Given the description of an element on the screen output the (x, y) to click on. 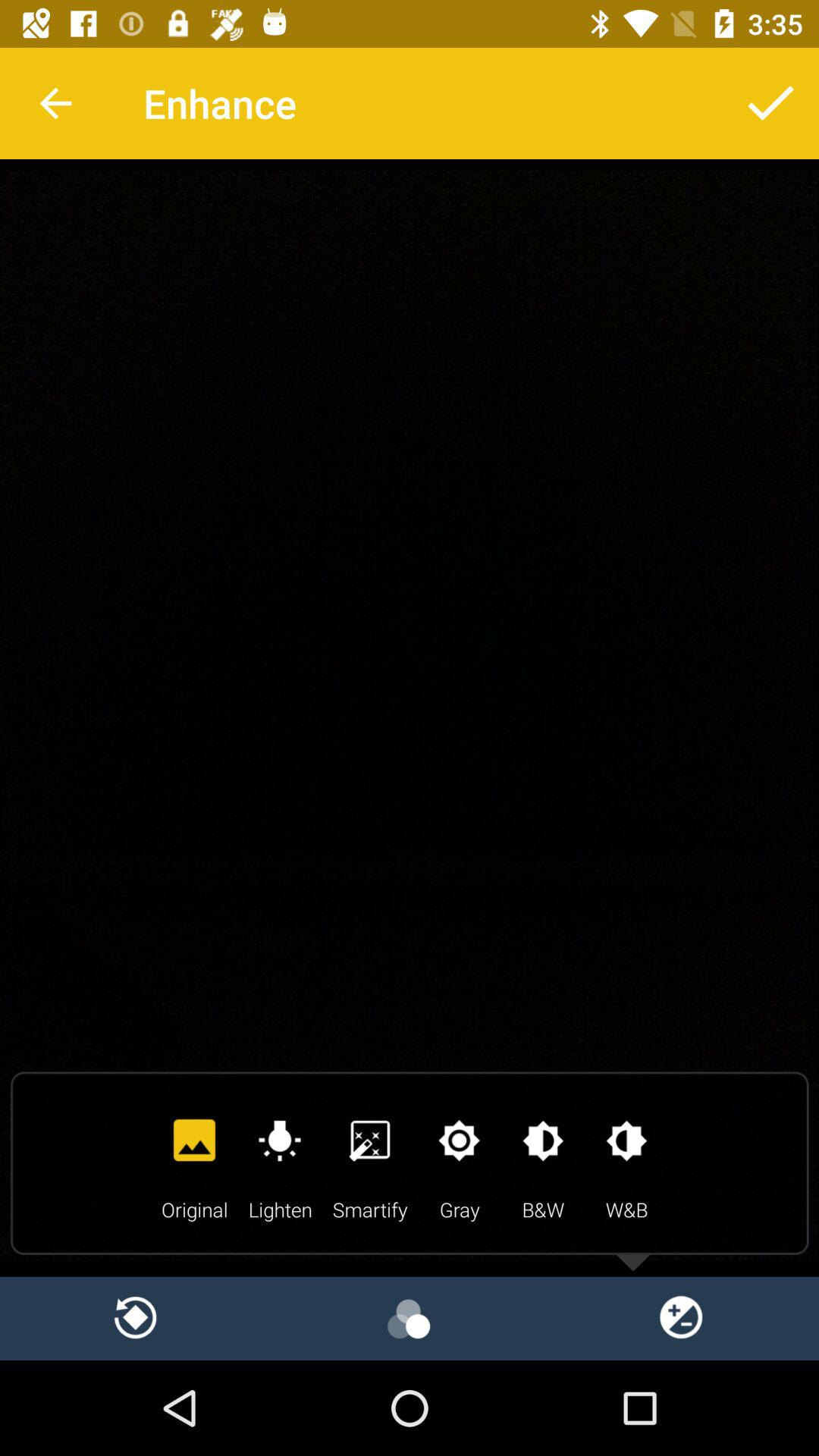
reload (136, 1318)
